Given the description of an element on the screen output the (x, y) to click on. 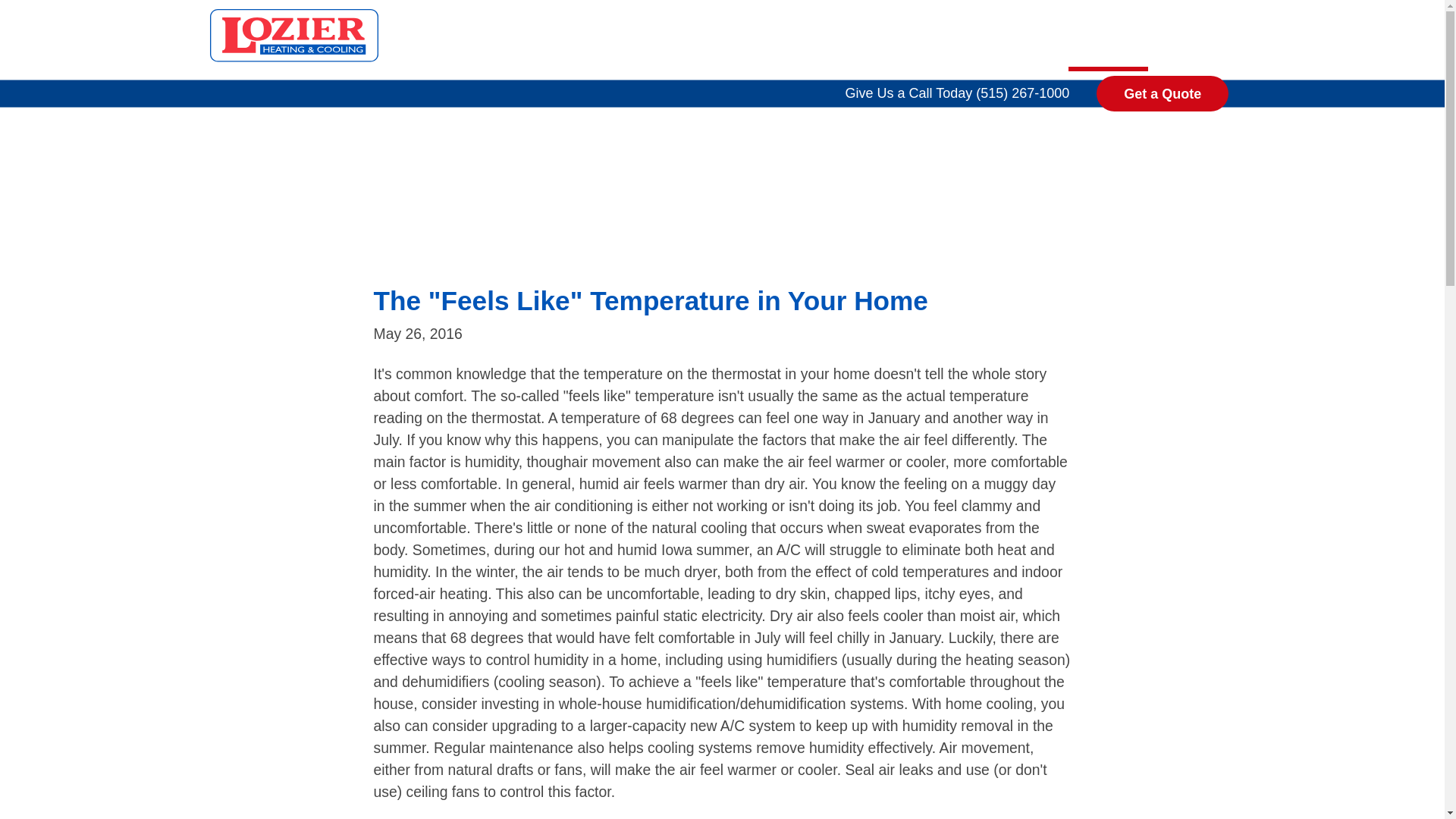
About (1194, 41)
Blog (1108, 41)
Residential (848, 41)
Commercial (993, 41)
Lozier Heating and Cooling. Link to homepage (290, 35)
